Given the description of an element on the screen output the (x, y) to click on. 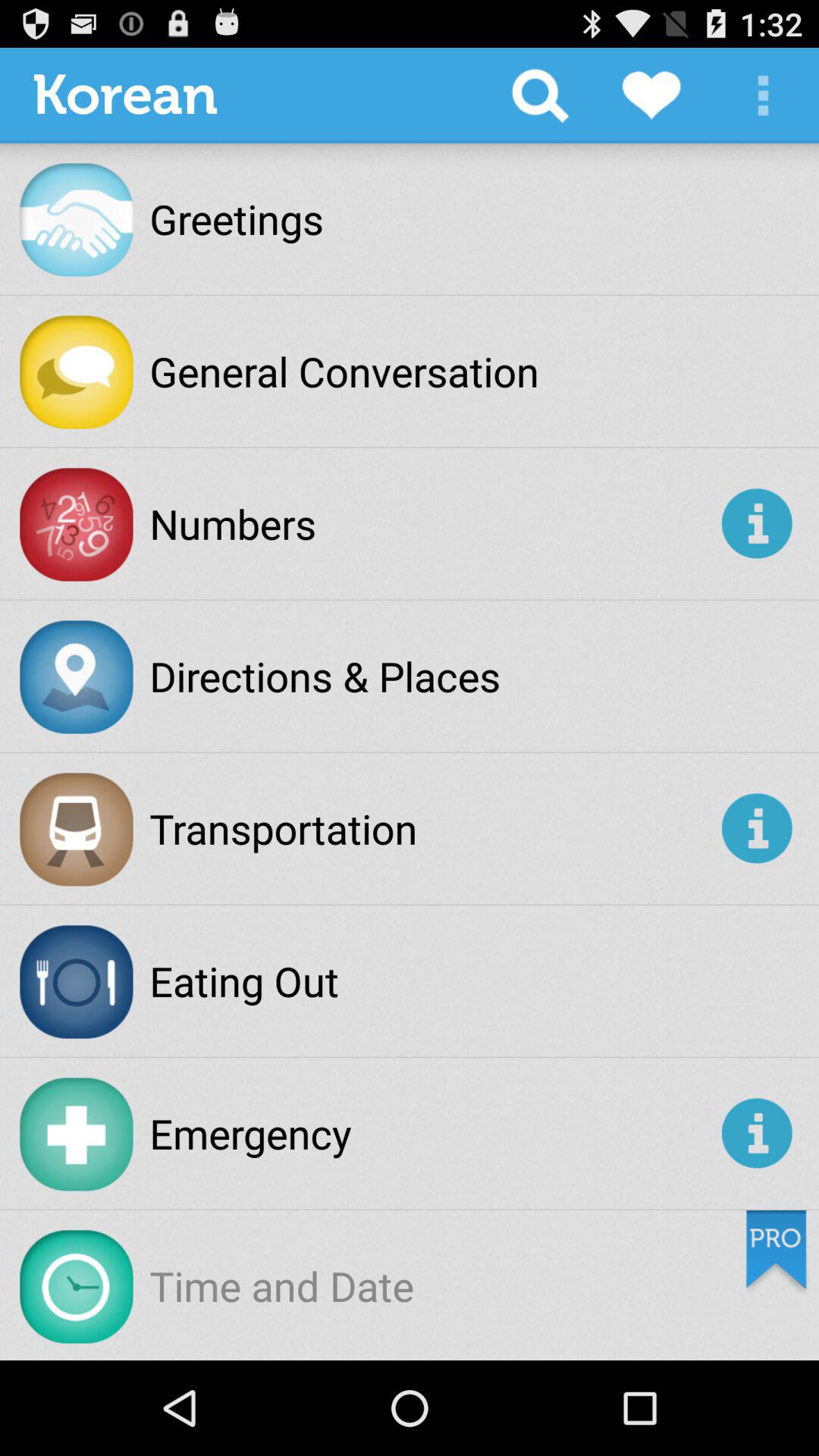
tap the icon above general conversation icon (540, 95)
